Given the description of an element on the screen output the (x, y) to click on. 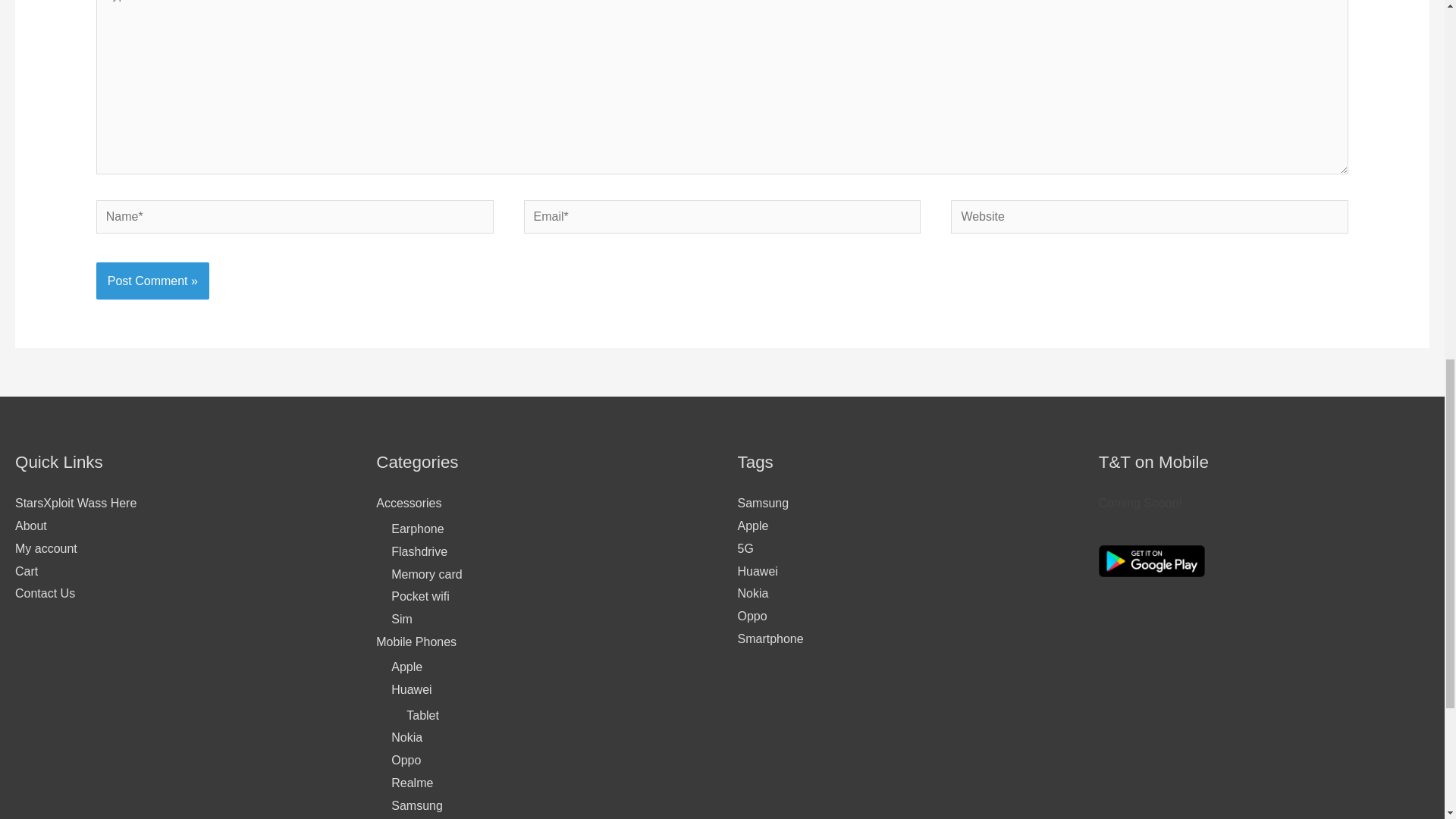
Cart (25, 571)
My account (45, 548)
About (30, 525)
Contact Us (44, 593)
Accessories (408, 502)
StarsXploit Wass Here (75, 502)
